Given the description of an element on the screen output the (x, y) to click on. 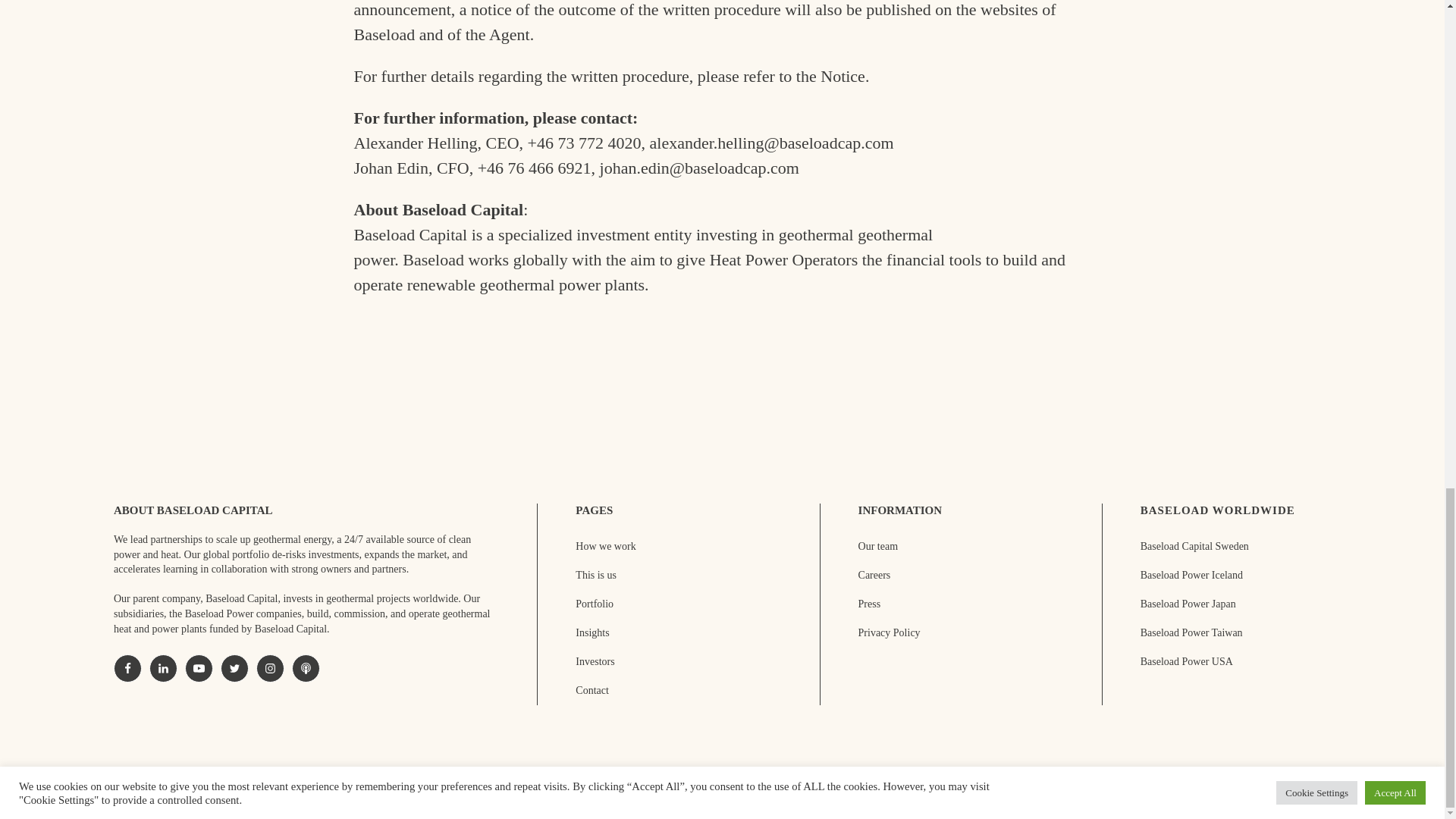
Investors (594, 662)
Portfolio (593, 604)
Insights (591, 632)
How we work (604, 546)
This is us (595, 575)
